Given the description of an element on the screen output the (x, y) to click on. 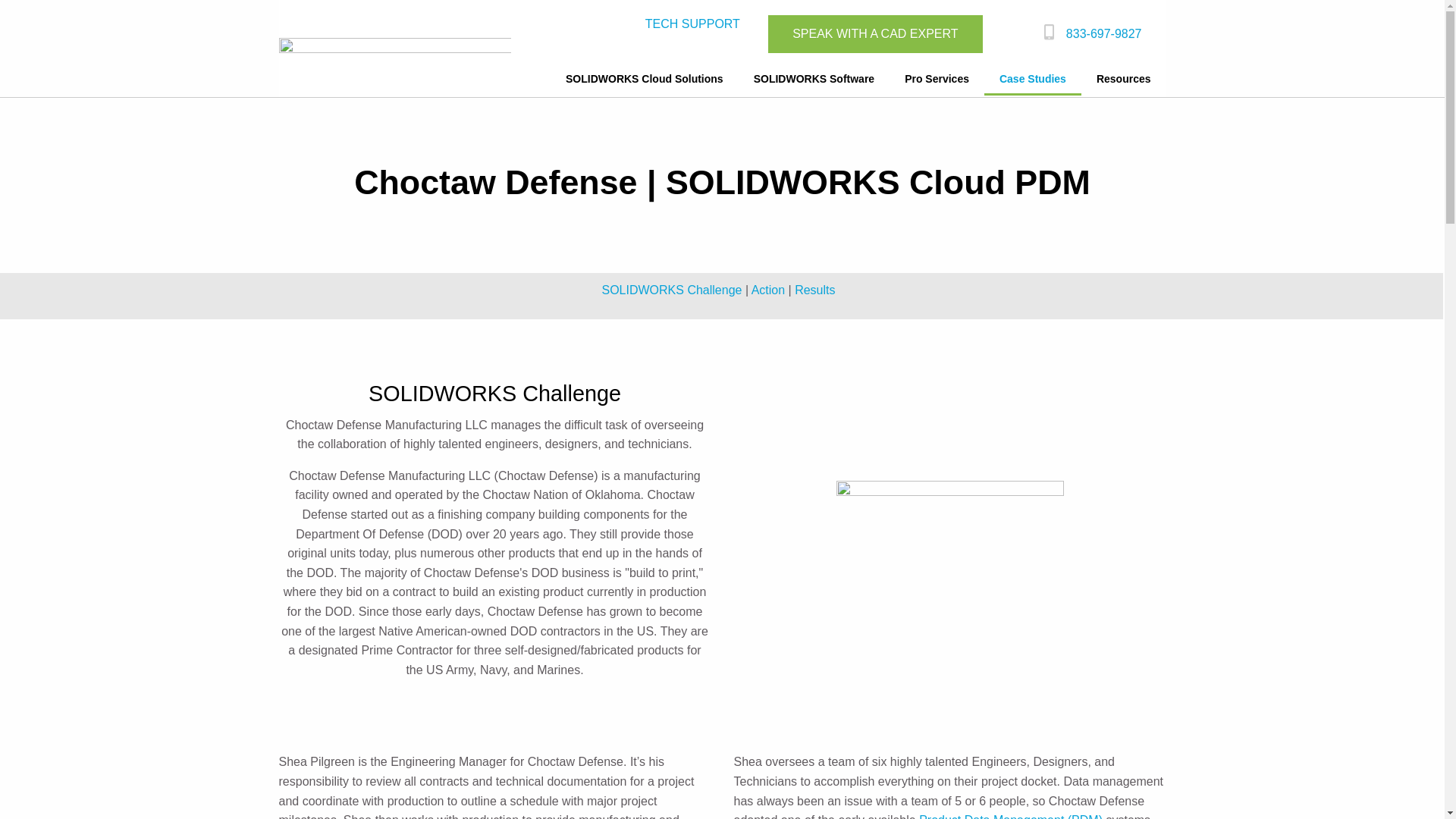
SPEAK WITH A CAD EXPERT (874, 34)
SOLIDWORKS Cloud Solutions (644, 79)
Pro Services (936, 79)
Case Studies (1032, 79)
TECH SUPPORT (692, 24)
SOLIDWORKS Software (813, 79)
833-697-9827 (1099, 34)
Resources (1123, 79)
